Given the description of an element on the screen output the (x, y) to click on. 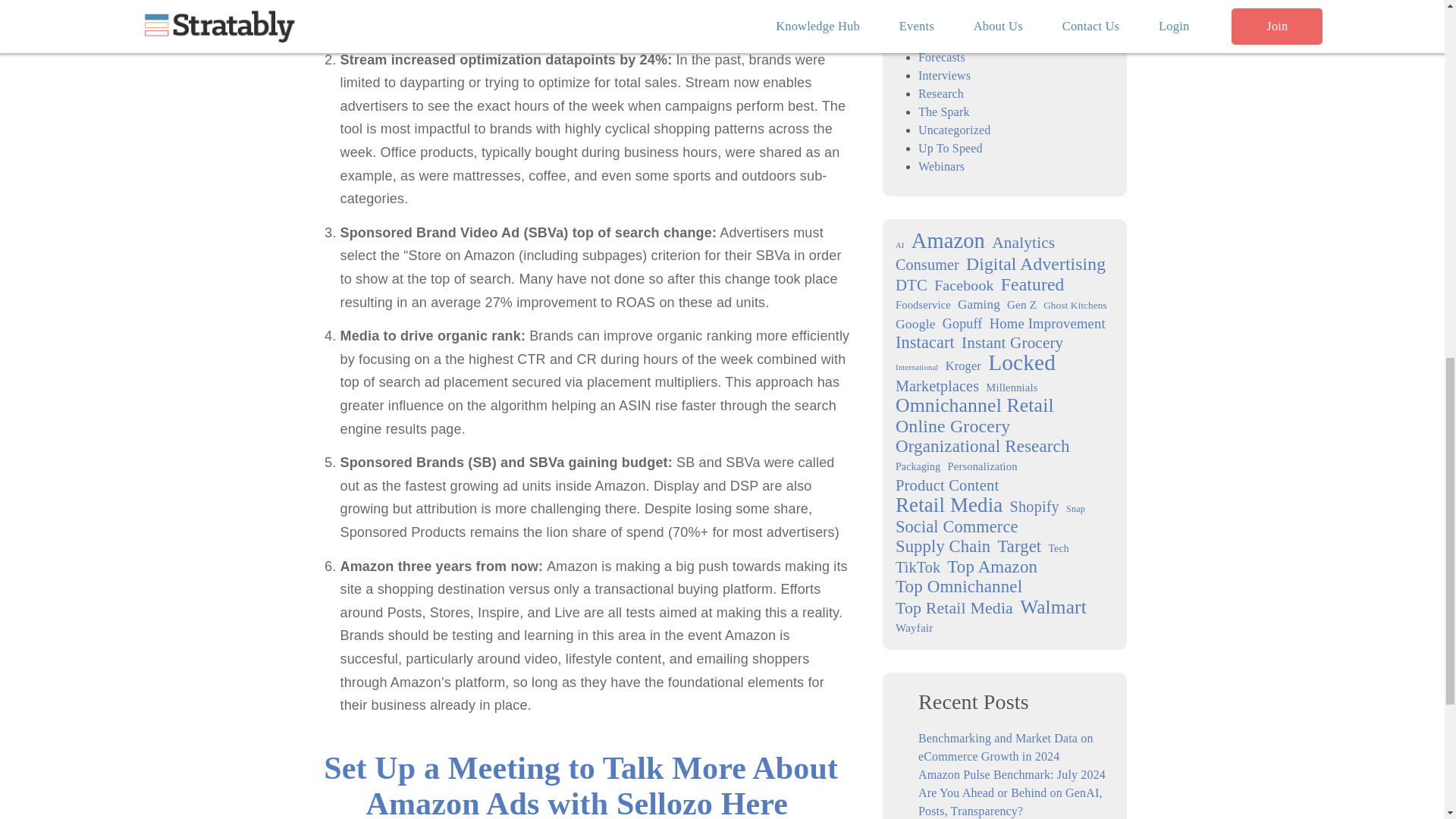
Briefings (940, 4)
Forecasts (941, 56)
Webinars (940, 165)
The Spark (943, 111)
Interviews (944, 74)
Research (940, 92)
Up To Speed (950, 147)
Consumer (927, 264)
Analytics (1022, 242)
Building Blocks (958, 20)
Consumer Studies (963, 38)
Uncategorized (954, 129)
Amazon (948, 240)
